Given the description of an element on the screen output the (x, y) to click on. 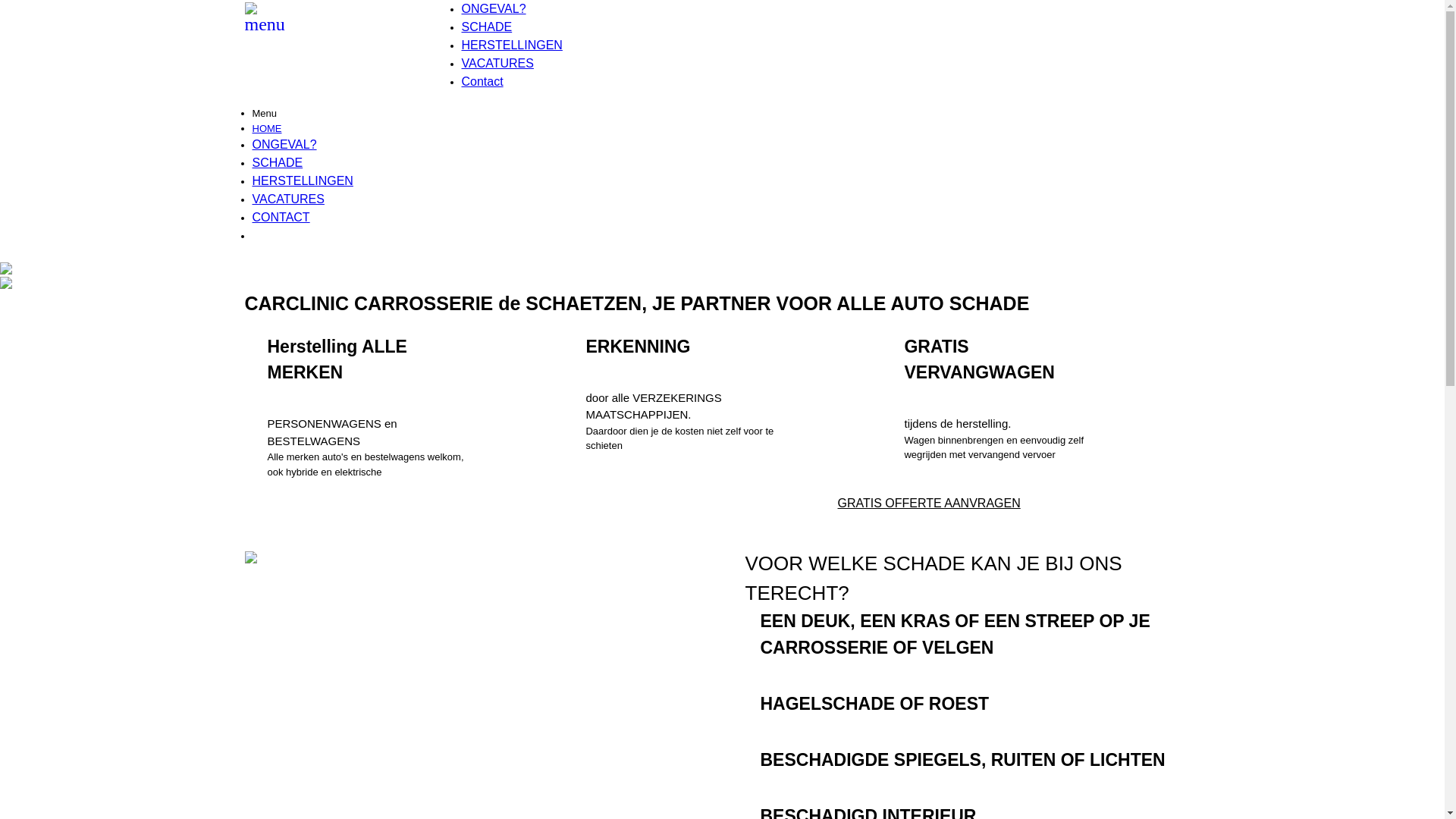
SCHADE Element type: text (276, 162)
SCHADE Element type: text (486, 26)
VACATURES Element type: text (287, 198)
GRATIS OFFERTE AANVRAGEN Element type: text (928, 502)
ONGEVAL? Element type: text (283, 144)
HERSTELLINGEN Element type: text (511, 44)
HOME Element type: text (266, 128)
CONTACT Element type: text (280, 216)
HERSTELLINGEN Element type: text (301, 180)
GRATIS OFFERTE Element type: text (303, 235)
menu Element type: text (264, 26)
ONGEVAL? Element type: text (493, 8)
AFSPRAAK Element type: text (1130, 8)
VACATURES Element type: text (497, 62)
Contact Element type: text (481, 81)
OFFERTE Element type: text (971, 8)
